Given the description of an element on the screen output the (x, y) to click on. 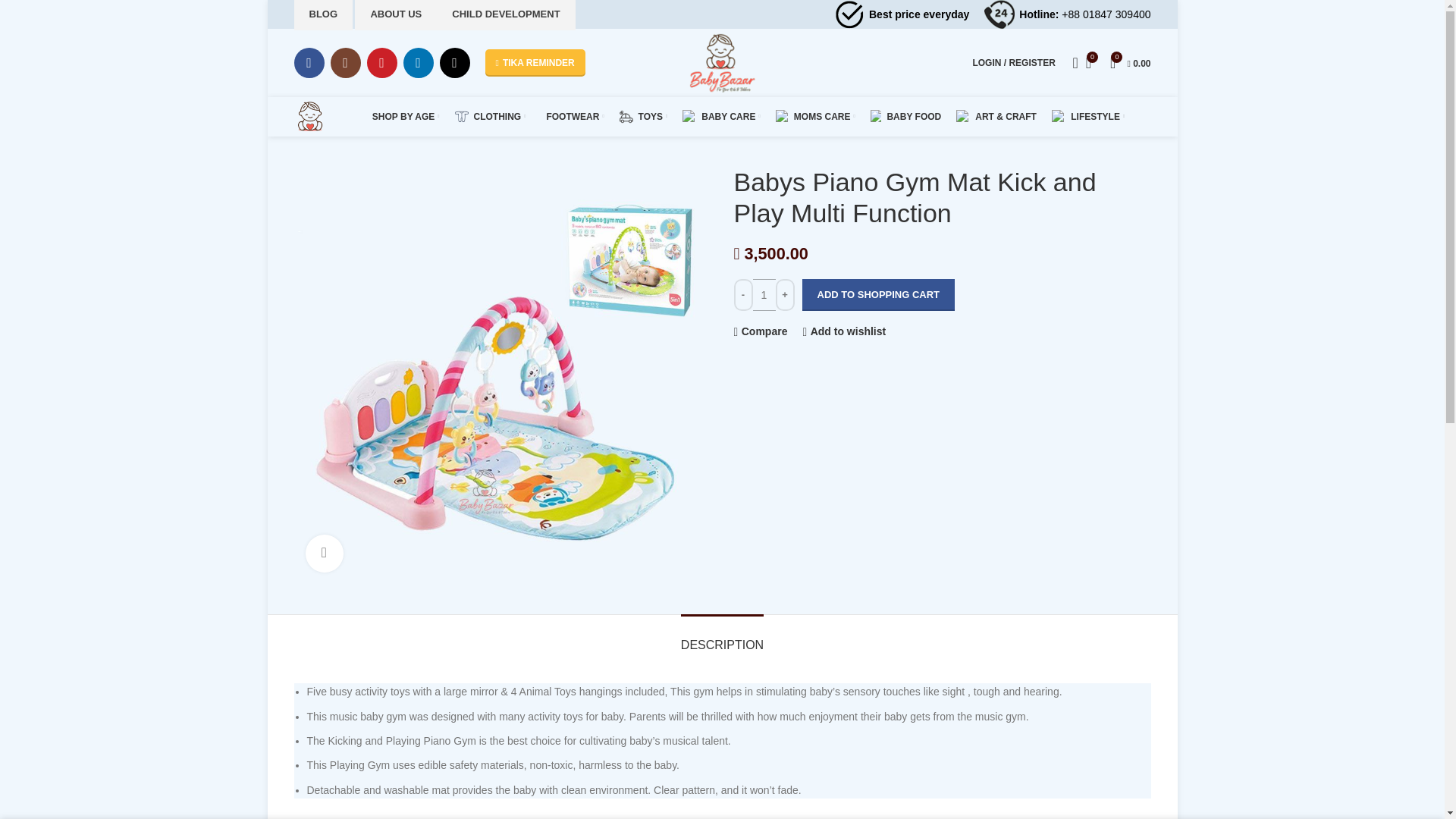
ABOUT US (395, 15)
TIKA REMINDER (534, 62)
BLOG (323, 13)
ABOUT US (395, 13)
SHOP BY AGE (402, 116)
BLOG (323, 15)
CHILD DEVELOPMENT (505, 15)
Shopping cart (1129, 62)
My account (1012, 62)
